Given the description of an element on the screen output the (x, y) to click on. 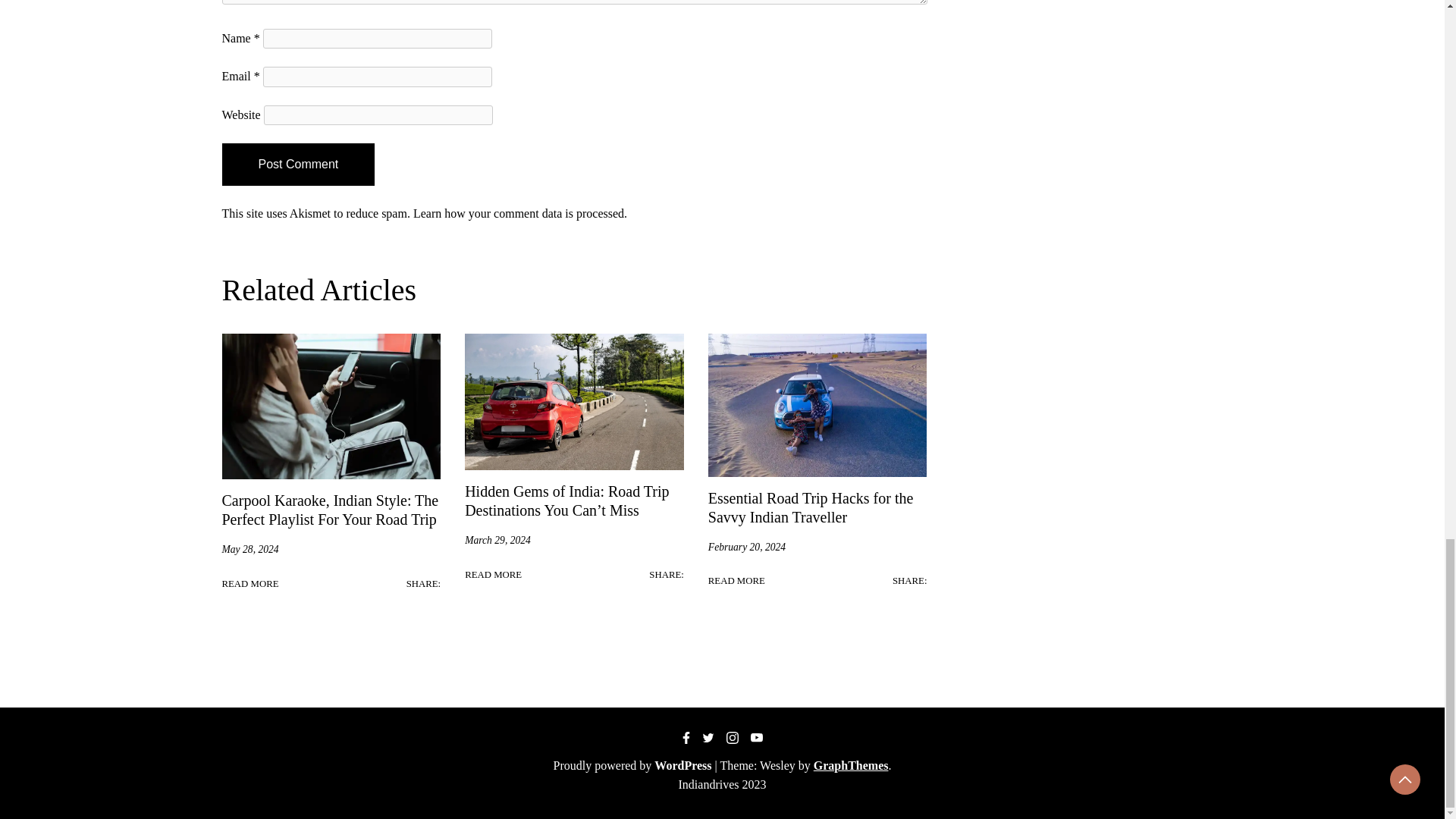
February 20, 2024 (746, 547)
March 29, 2024 (497, 540)
READ MORE (736, 580)
May 28, 2024 (249, 549)
Learn how your comment data is processed (518, 213)
Post Comment (297, 164)
READ MORE (249, 583)
Post Comment (297, 164)
Essential Road Trip Hacks for the Savvy Indian Traveller (810, 507)
READ MORE (492, 574)
